Given the description of an element on the screen output the (x, y) to click on. 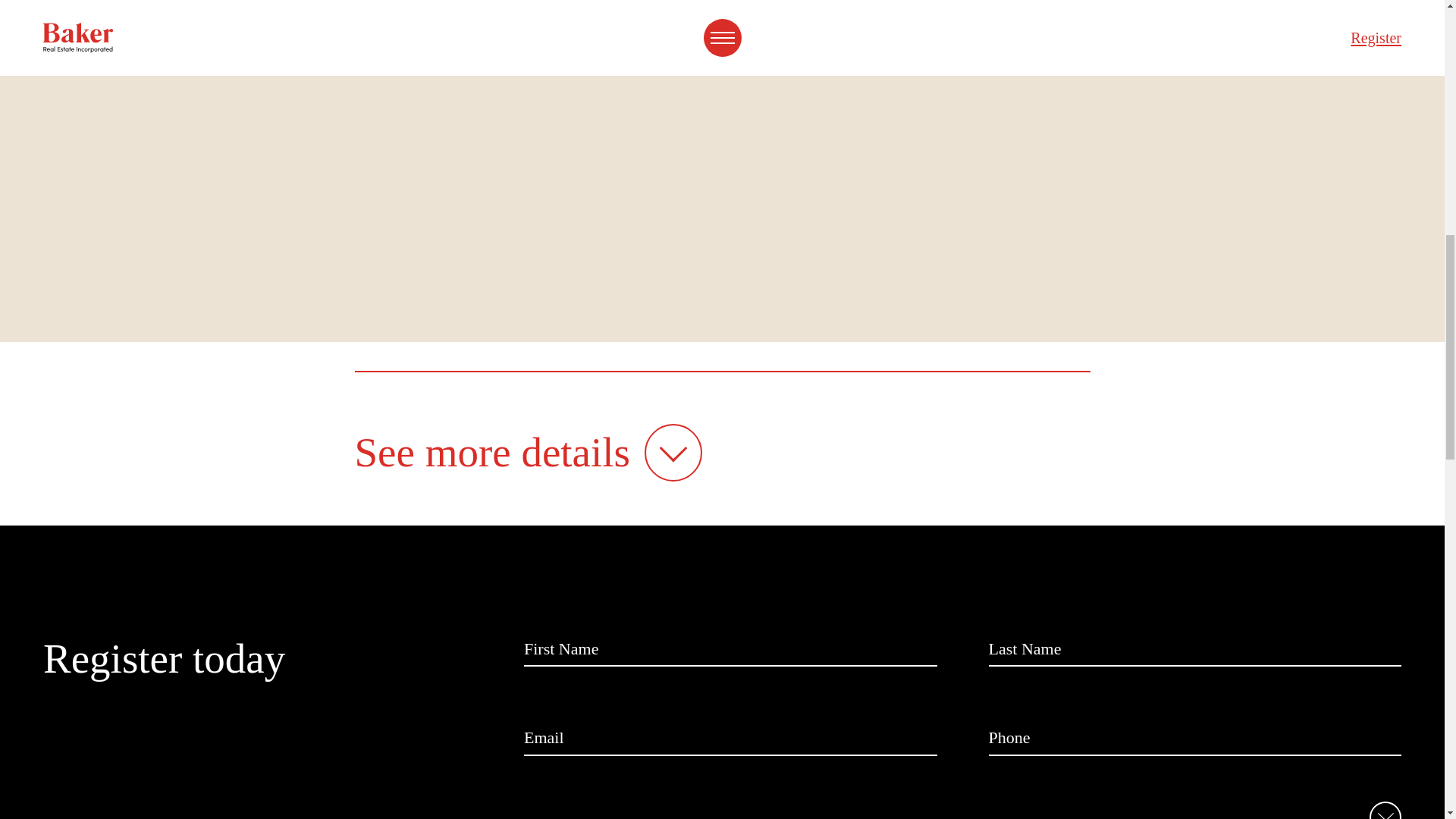
See more details (529, 452)
